Given the description of an element on the screen output the (x, y) to click on. 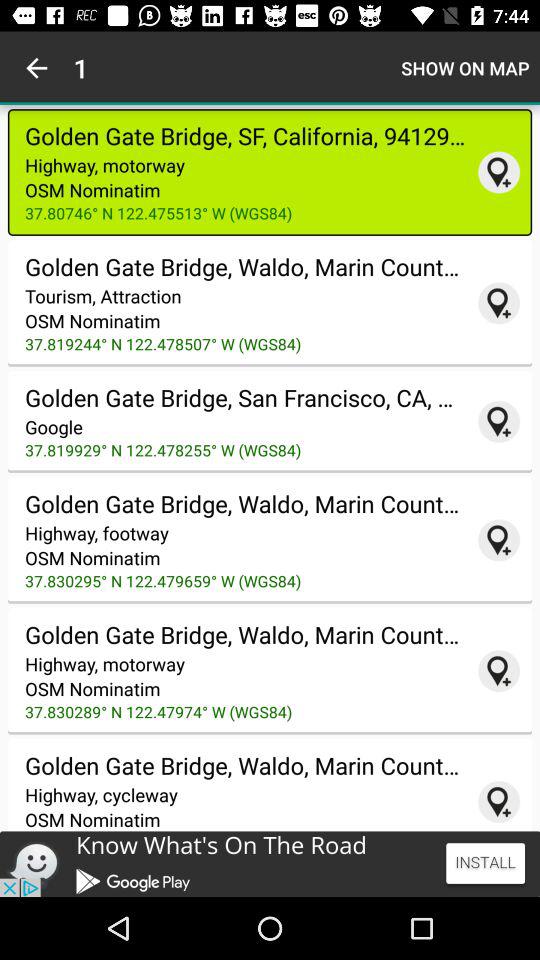
pin location (499, 421)
